Given the description of an element on the screen output the (x, y) to click on. 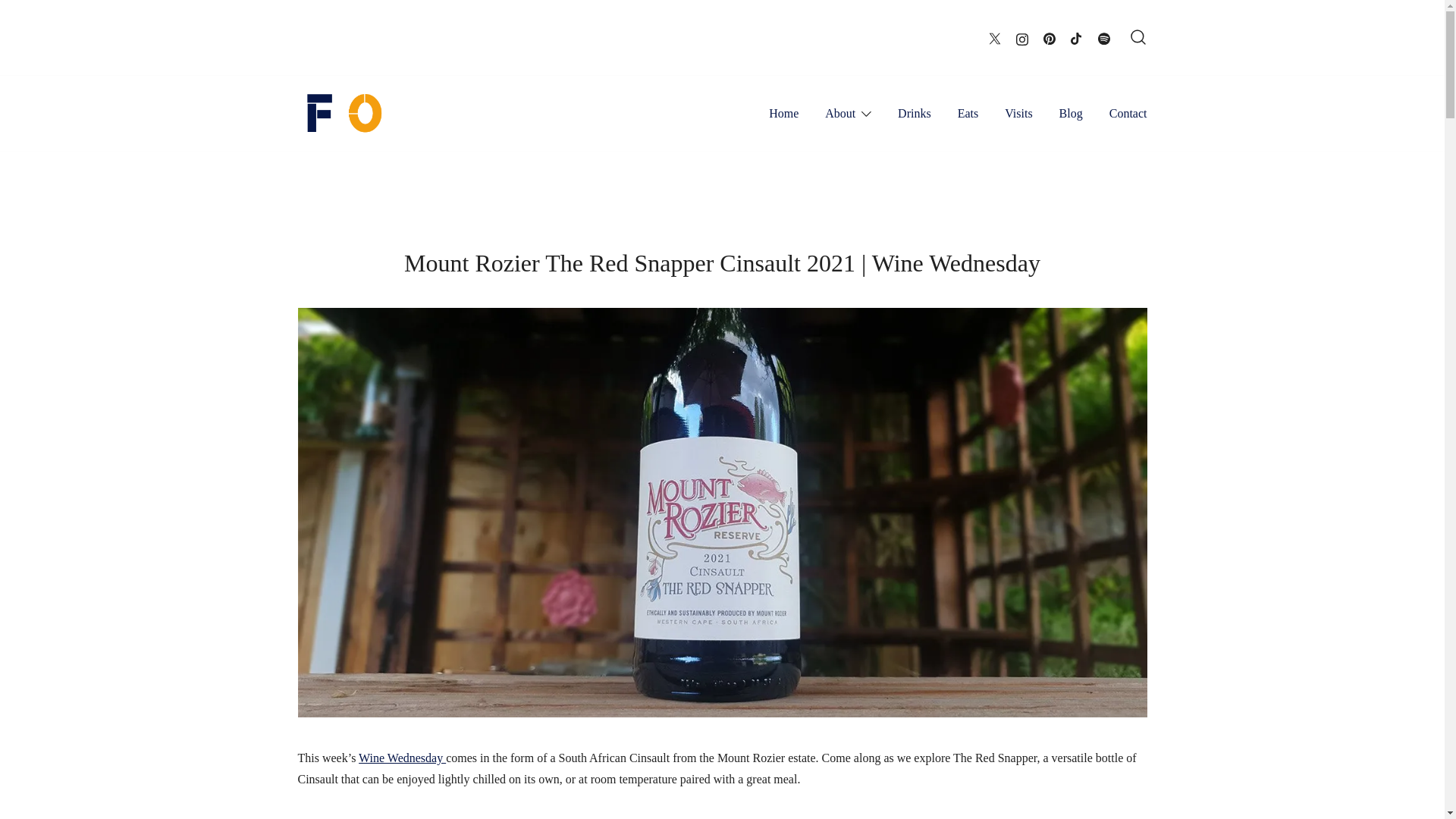
Social network instagram link. (1021, 36)
Social network tiktok link. (1076, 36)
Wine Wednesday (401, 757)
Drinks (914, 113)
Social network spotify link. (1103, 36)
Social network pinterest link. (1049, 36)
Female Original (346, 164)
Social network twitter link. (994, 36)
Contact (1128, 113)
